Given the description of an element on the screen output the (x, y) to click on. 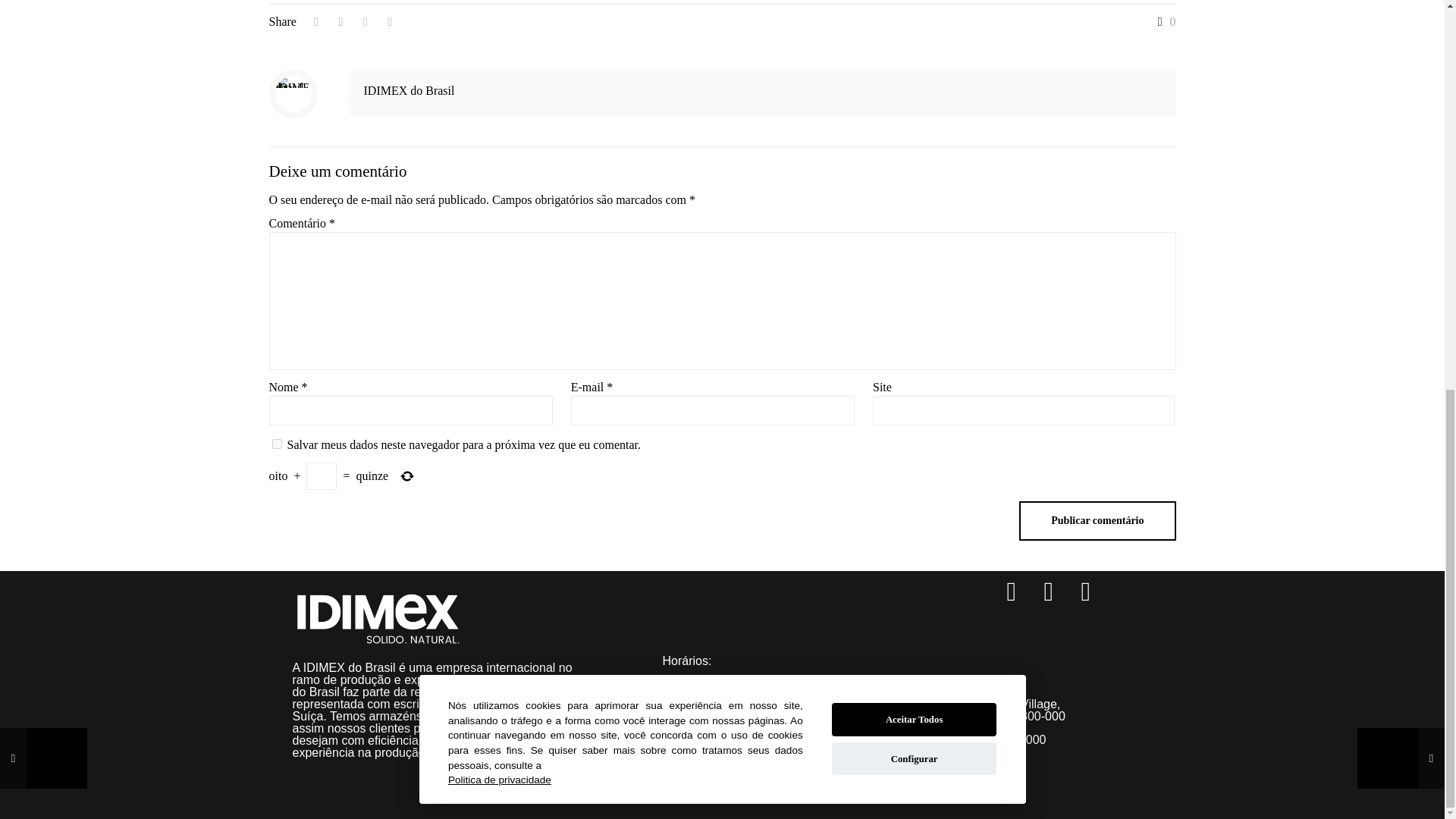
0 (1162, 21)
yes (275, 443)
IDIMEX do Brasil (409, 90)
